Given the description of an element on the screen output the (x, y) to click on. 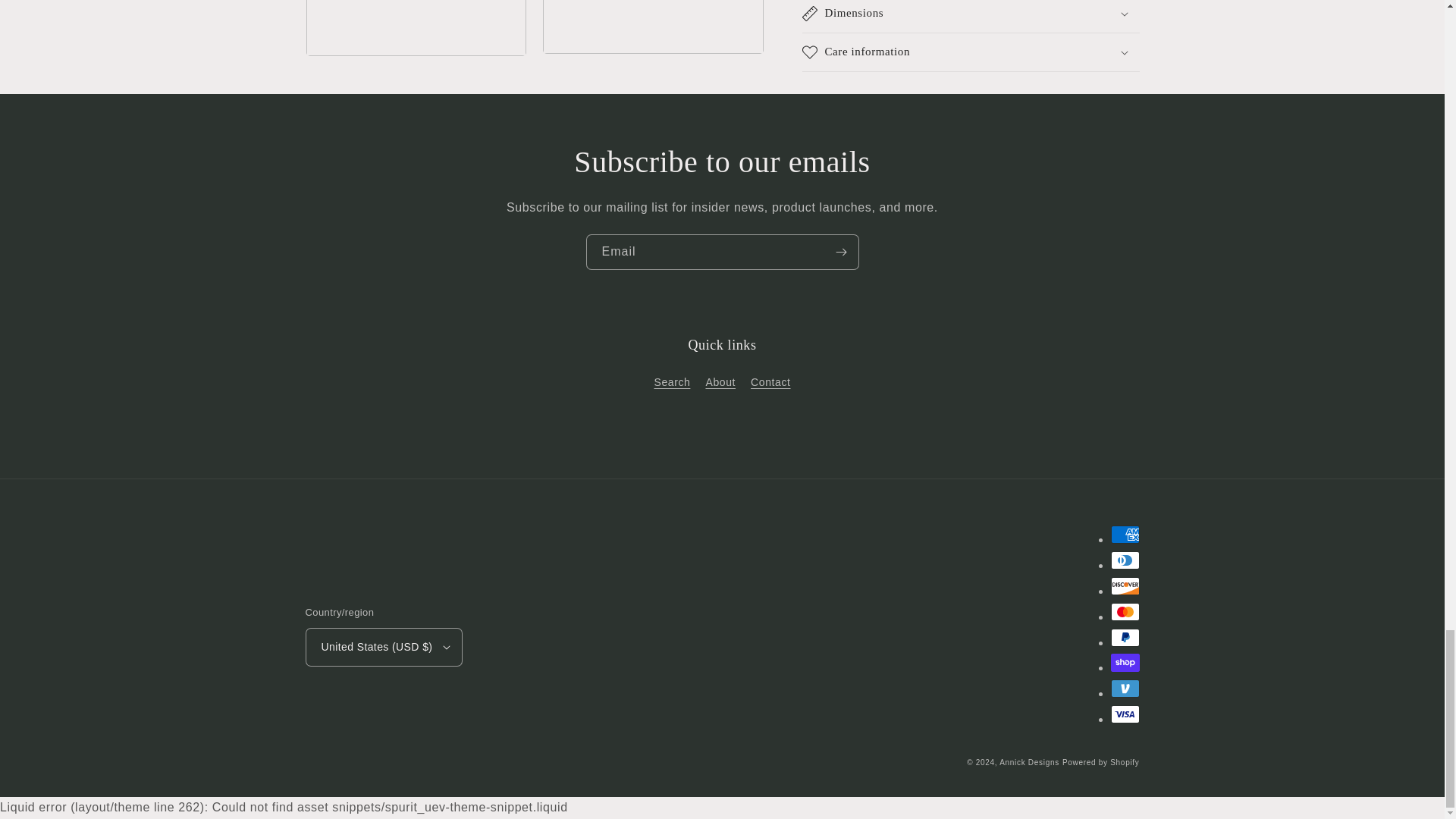
American Express (1123, 534)
PayPal (1123, 637)
Discover (1123, 586)
Mastercard (1123, 611)
Diners Club (1123, 560)
Shop Pay (1123, 662)
